Given the description of an element on the screen output the (x, y) to click on. 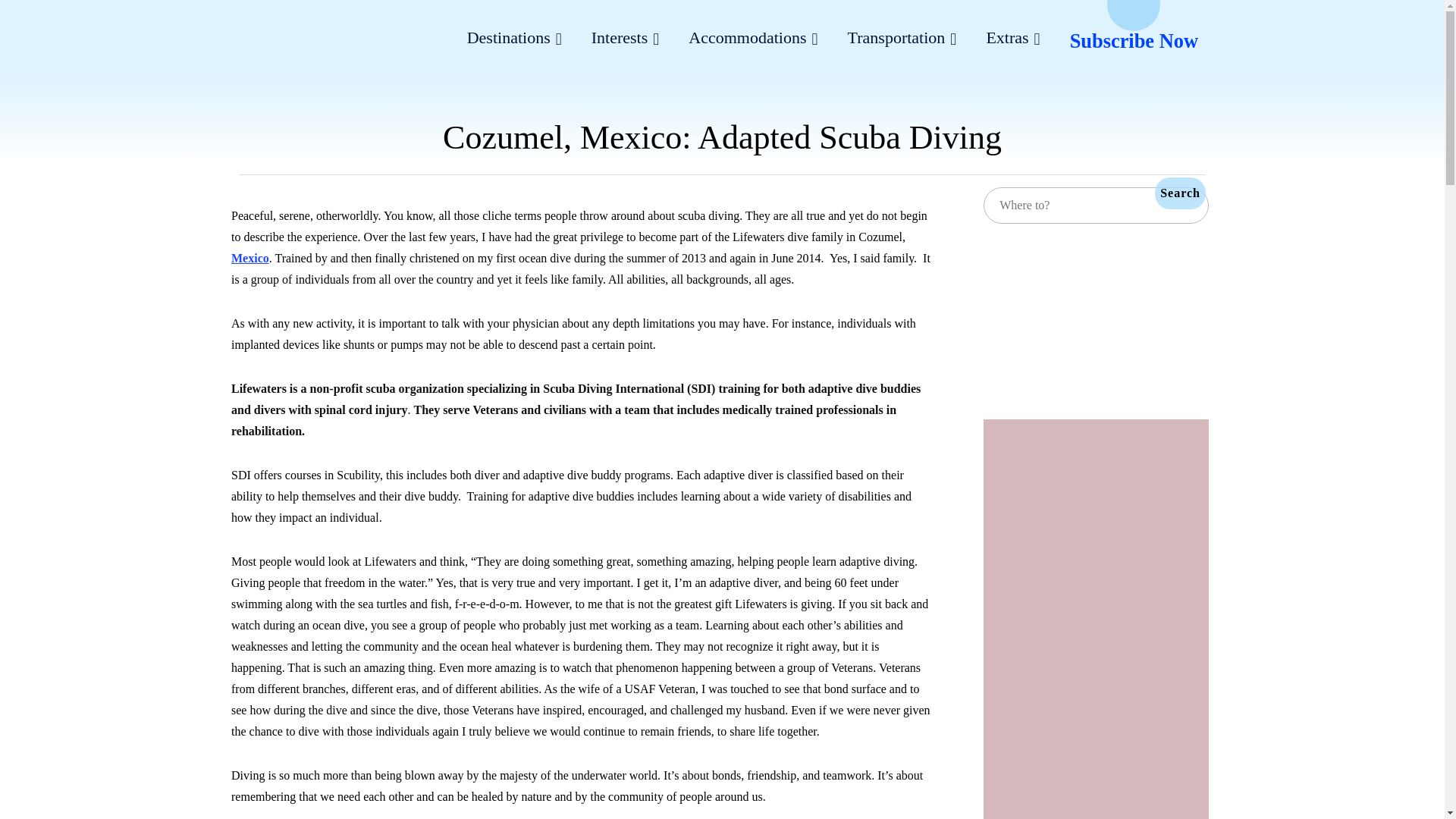
Destinations (514, 39)
Interests (625, 39)
Accommodations (752, 39)
Transportation (901, 39)
